Given the description of an element on the screen output the (x, y) to click on. 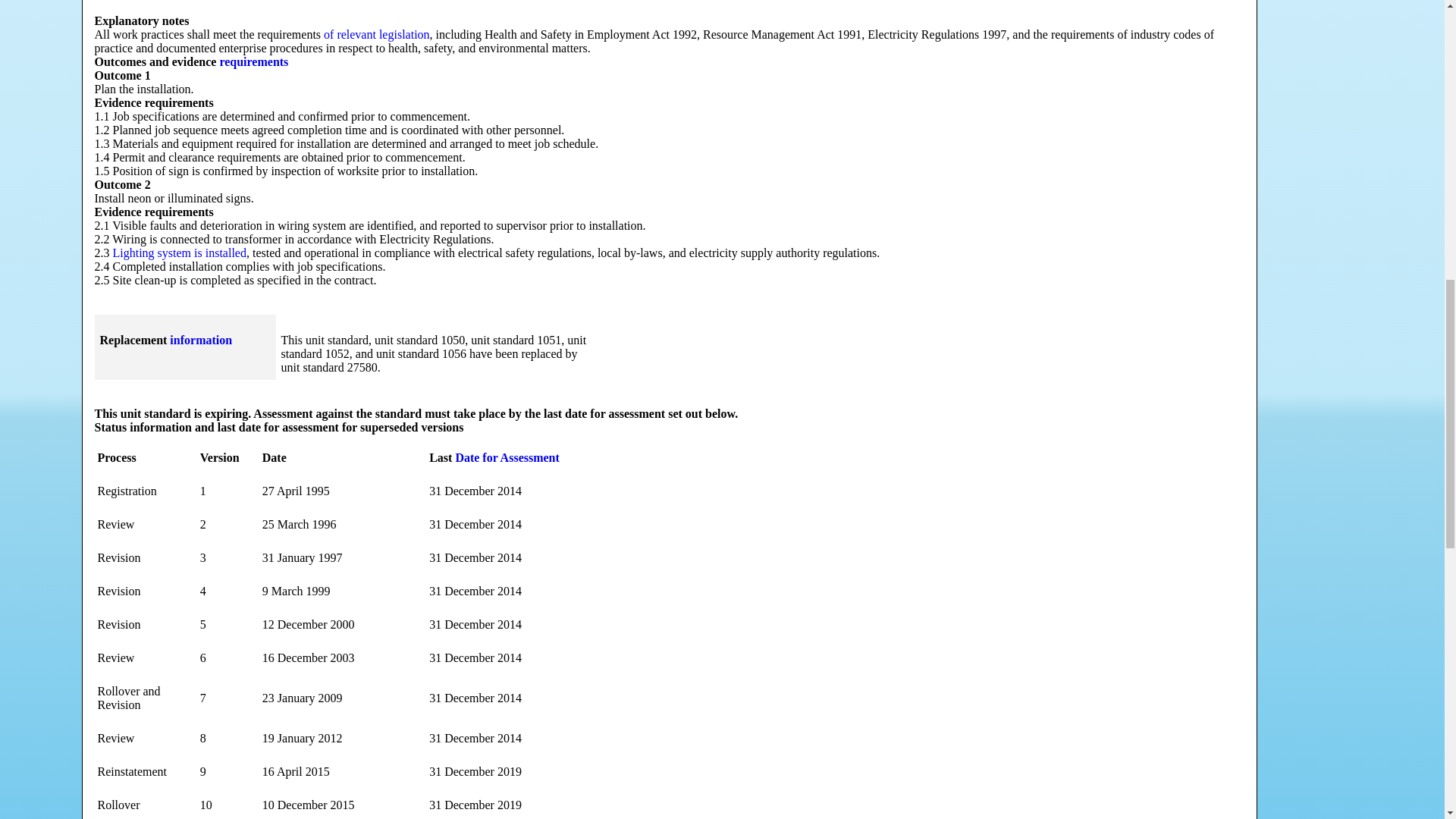
information (200, 339)
requirements (253, 61)
Date for Assessment (506, 457)
of relevant legislation (376, 33)
Lighting system is installed (179, 252)
